Given the description of an element on the screen output the (x, y) to click on. 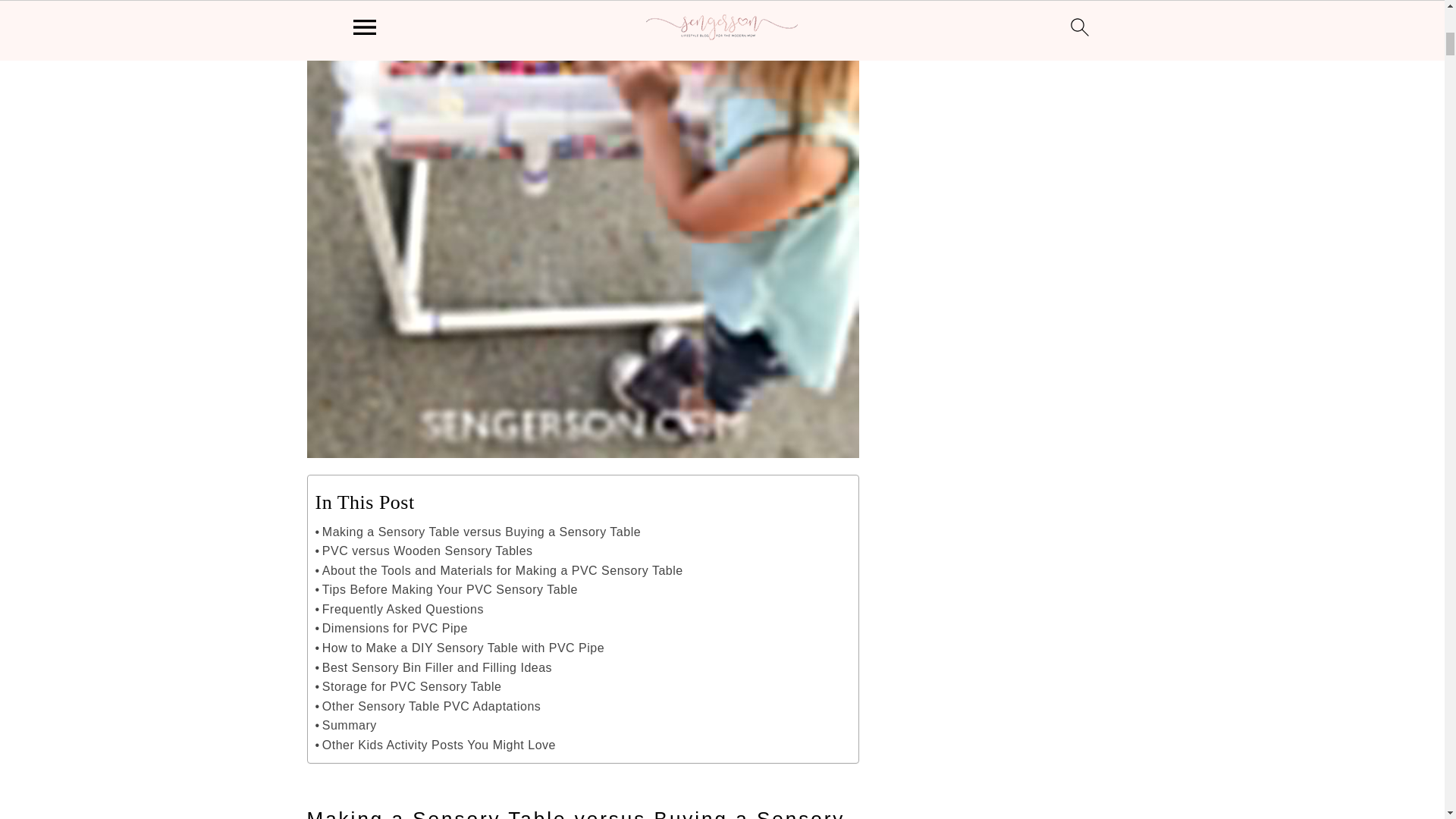
Best Sensory Bin Filler and Filling Ideas (434, 668)
Tips Before Making Your PVC Sensory Table (446, 589)
How to Make a DIY Sensory Table with PVC Pipe (460, 648)
About the Tools and Materials for Making a PVC Sensory Table (498, 570)
Storage for PVC Sensory Table (408, 686)
Other Sensory Table PVC Adaptations (428, 706)
Summary (346, 725)
Other Kids Activity Posts You Might Love (435, 745)
Frequently Asked Questions (399, 609)
Dimensions for PVC Pipe (391, 628)
